Given the description of an element on the screen output the (x, y) to click on. 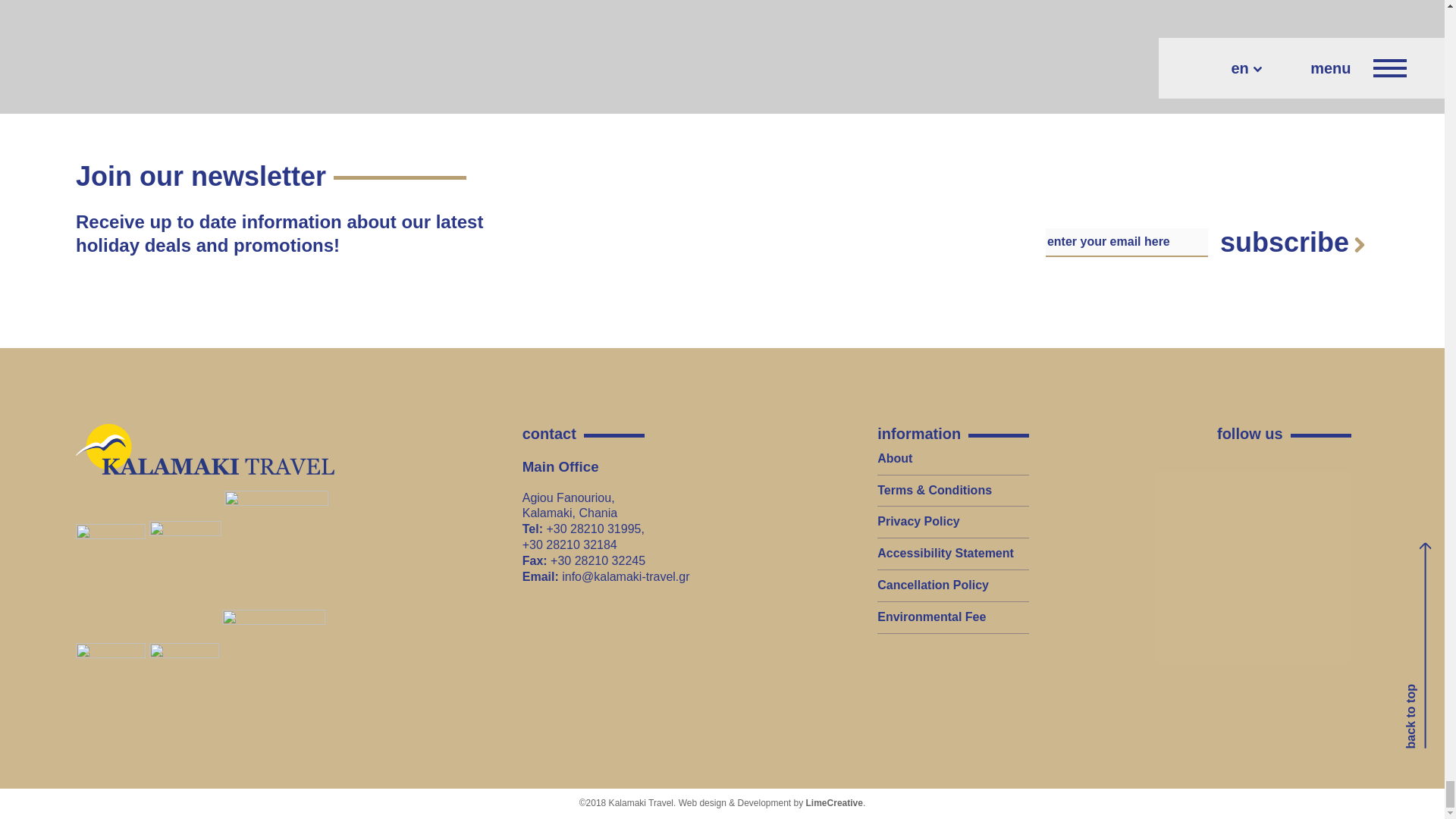
LimeCreative (834, 802)
Privacy Policy (918, 521)
Cancellation Policy (932, 584)
Accessibility Statement (945, 553)
Environmental Fee (931, 616)
About (894, 458)
subscribe (1291, 242)
